Given the description of an element on the screen output the (x, y) to click on. 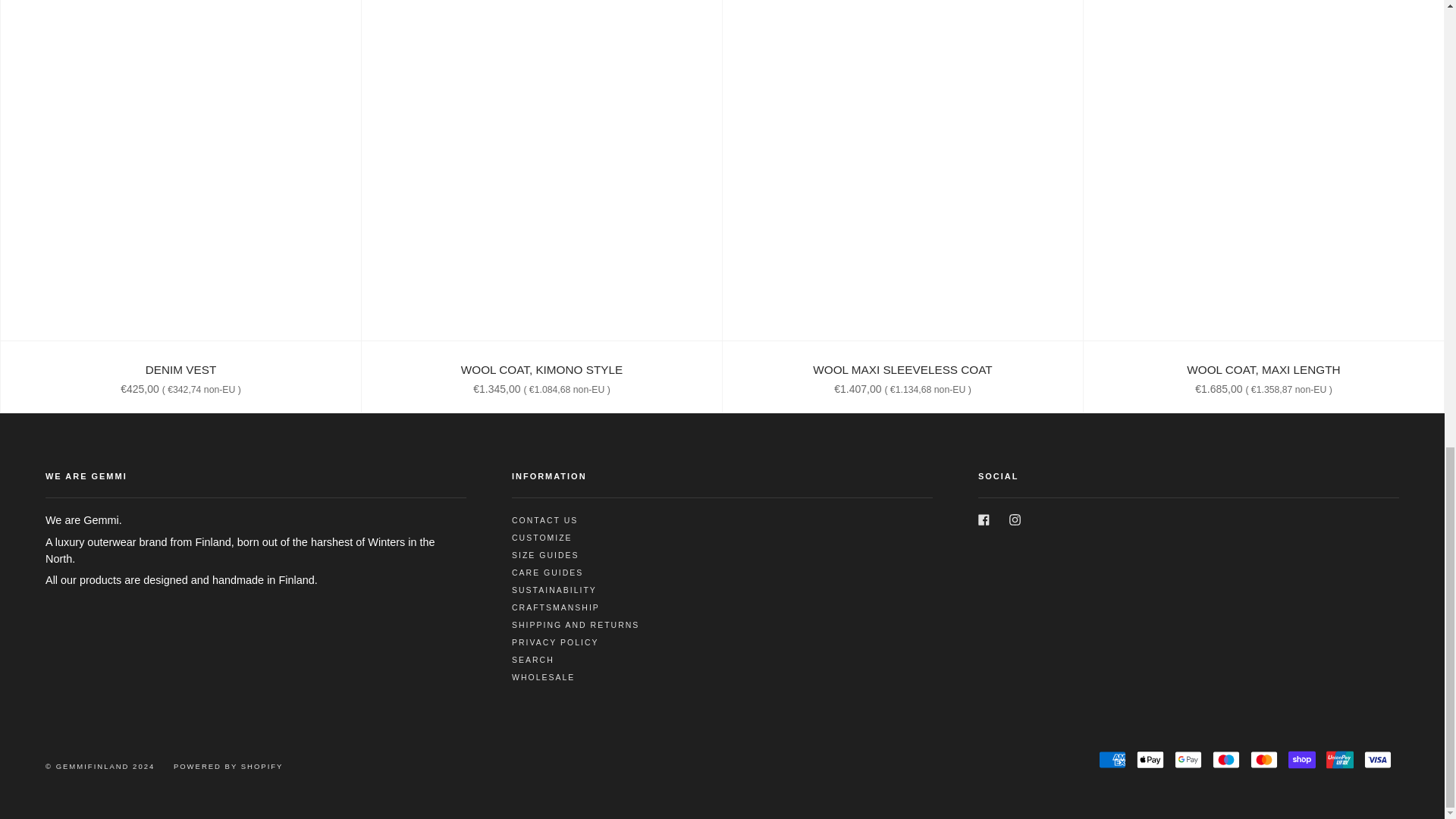
Maestro (1226, 760)
Gemmifinland on Instagram (1014, 518)
American Express (1112, 760)
Google Pay (1188, 760)
Shop Pay (1302, 760)
Gemmifinland on Facebook (984, 518)
Union Pay (1340, 760)
Mastercard (1264, 760)
Apple Pay (1150, 760)
Visa (1377, 760)
